Given the description of an element on the screen output the (x, y) to click on. 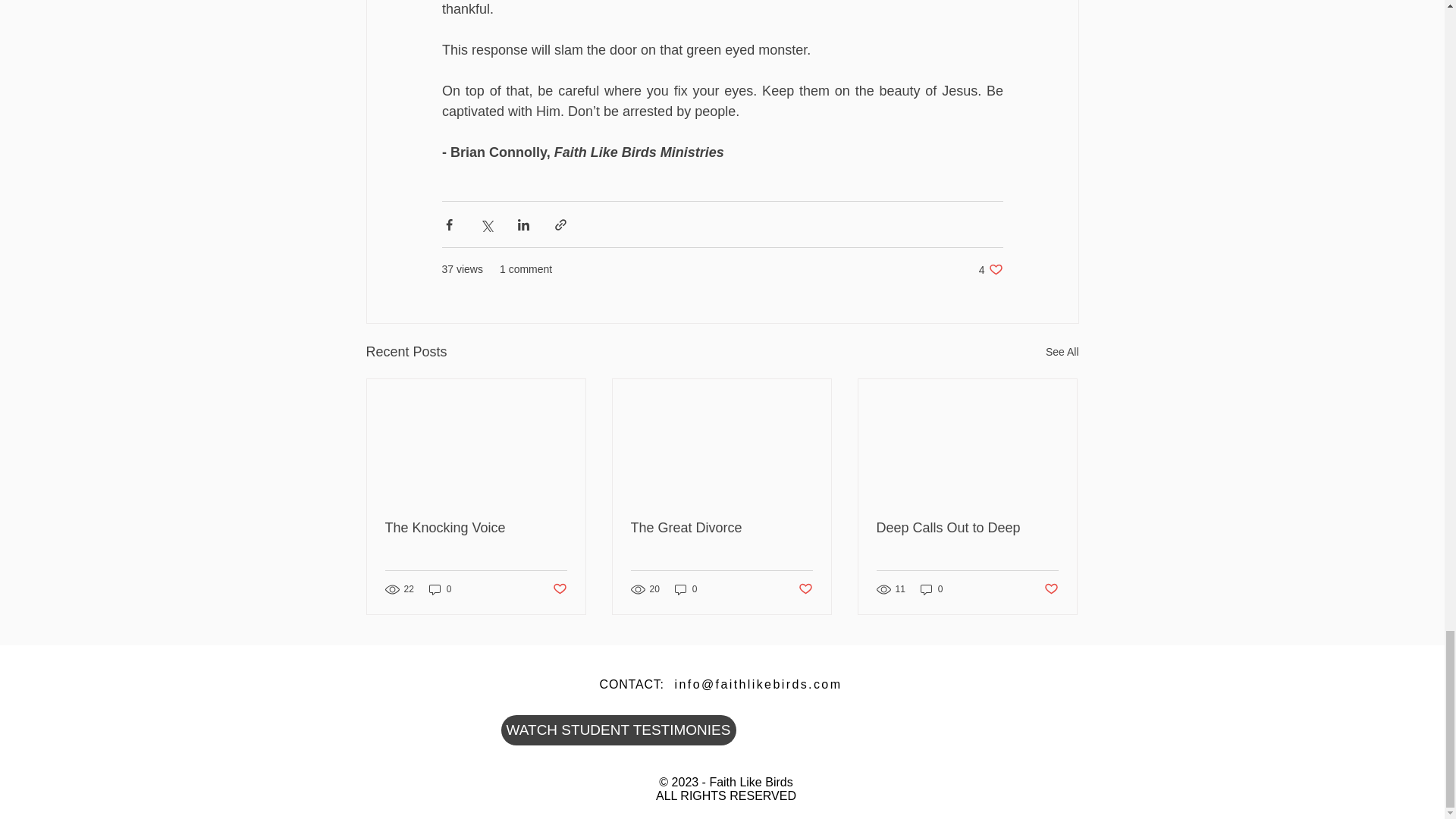
0 (931, 589)
The Knocking Voice (476, 528)
0 (990, 269)
0 (440, 589)
Post not marked as liked (685, 589)
See All (558, 589)
The Great Divorce (1061, 352)
Deep Calls Out to Deep (721, 528)
Post not marked as liked (967, 528)
